Given the description of an element on the screen output the (x, y) to click on. 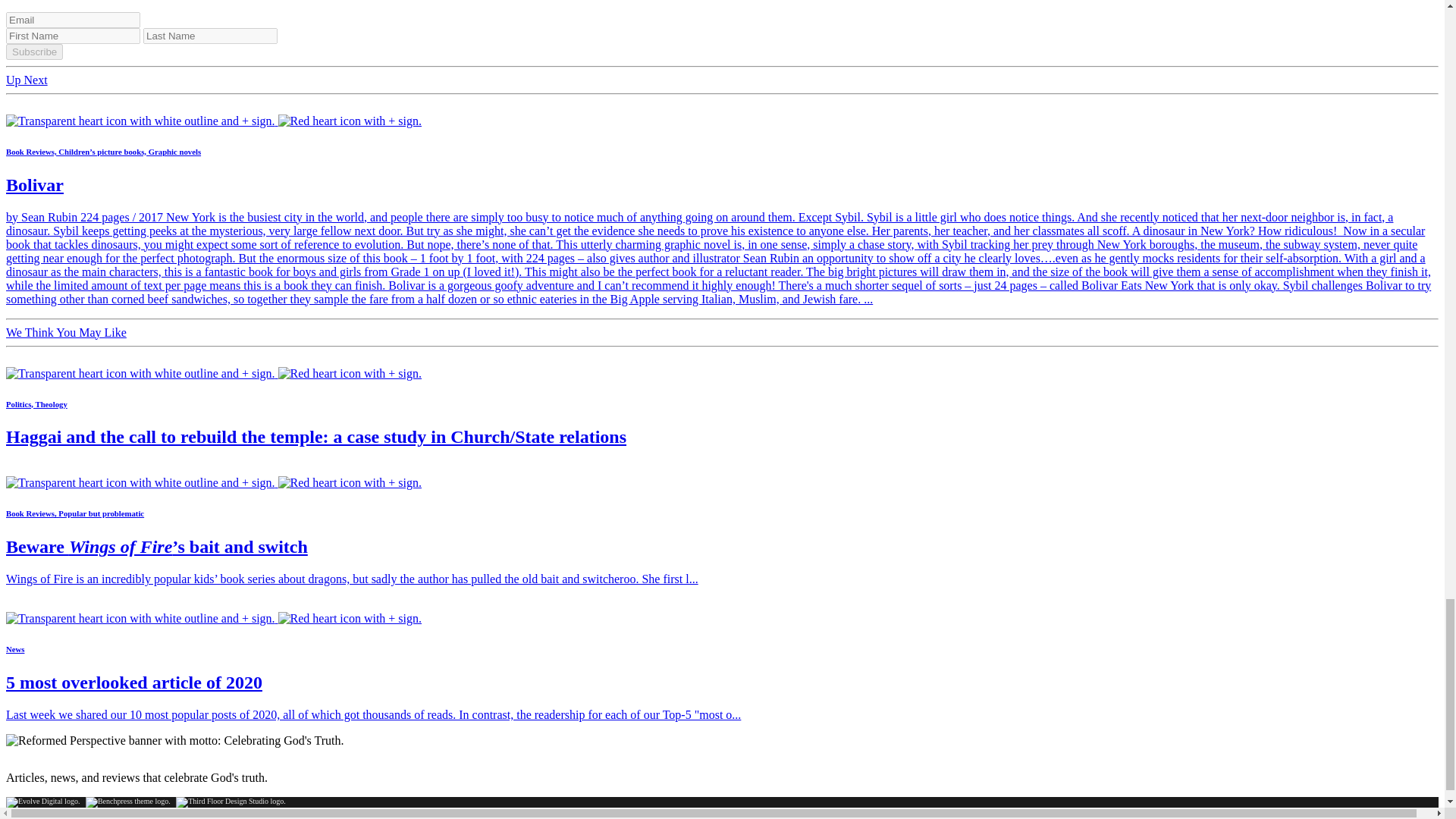
Subscribe to RP (213, 120)
Subscribe to RP (213, 481)
Subscribe to RP (213, 373)
Subscribe (33, 51)
Subscribe to RP (213, 617)
